Given the description of an element on the screen output the (x, y) to click on. 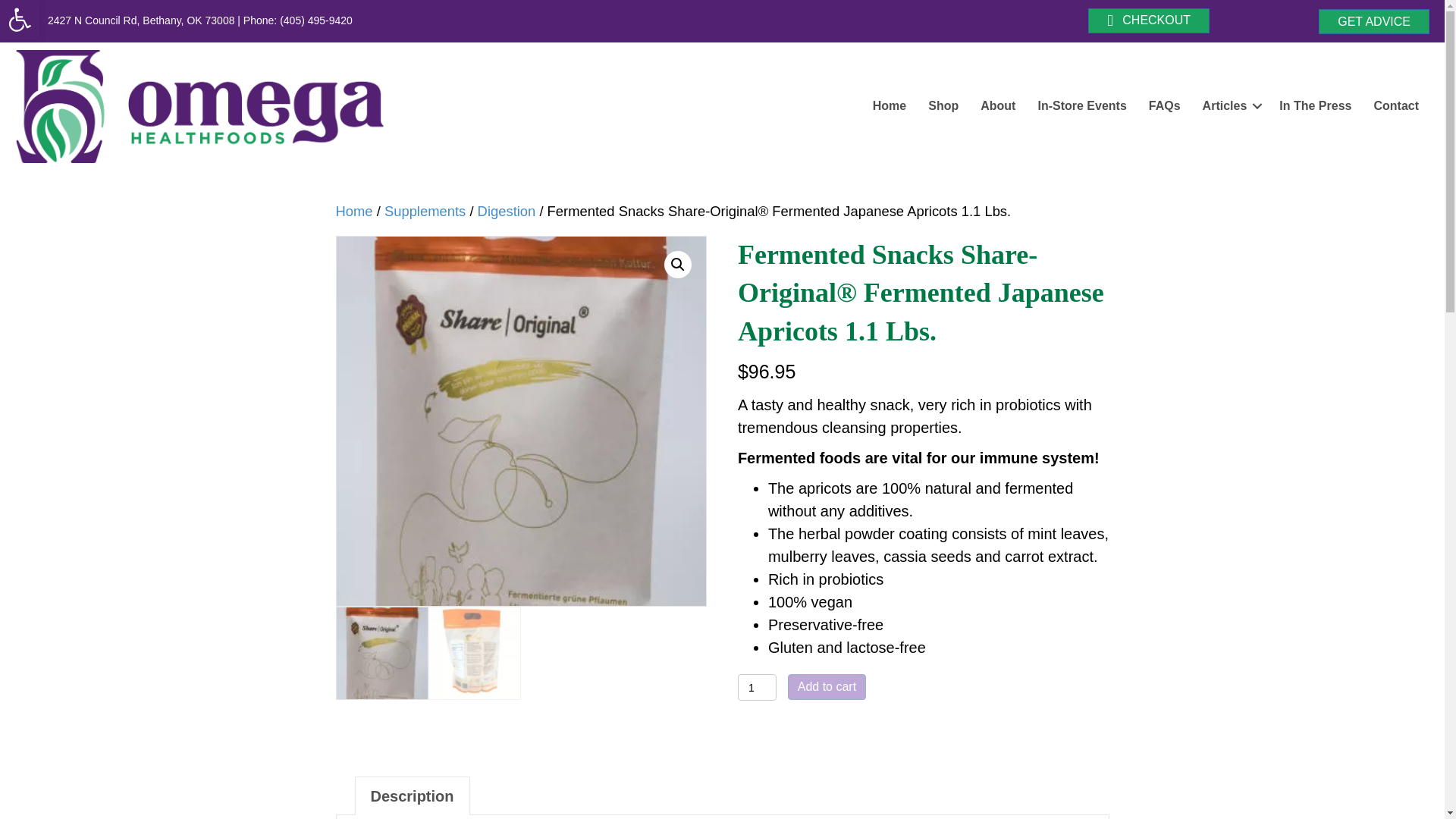
Description (410, 795)
Add to cart (826, 686)
Home (353, 211)
CHECKOUT (1148, 20)
In The Press (1314, 106)
Accessibility Tools (19, 19)
Supplements (19, 19)
About (424, 211)
